Given the description of an element on the screen output the (x, y) to click on. 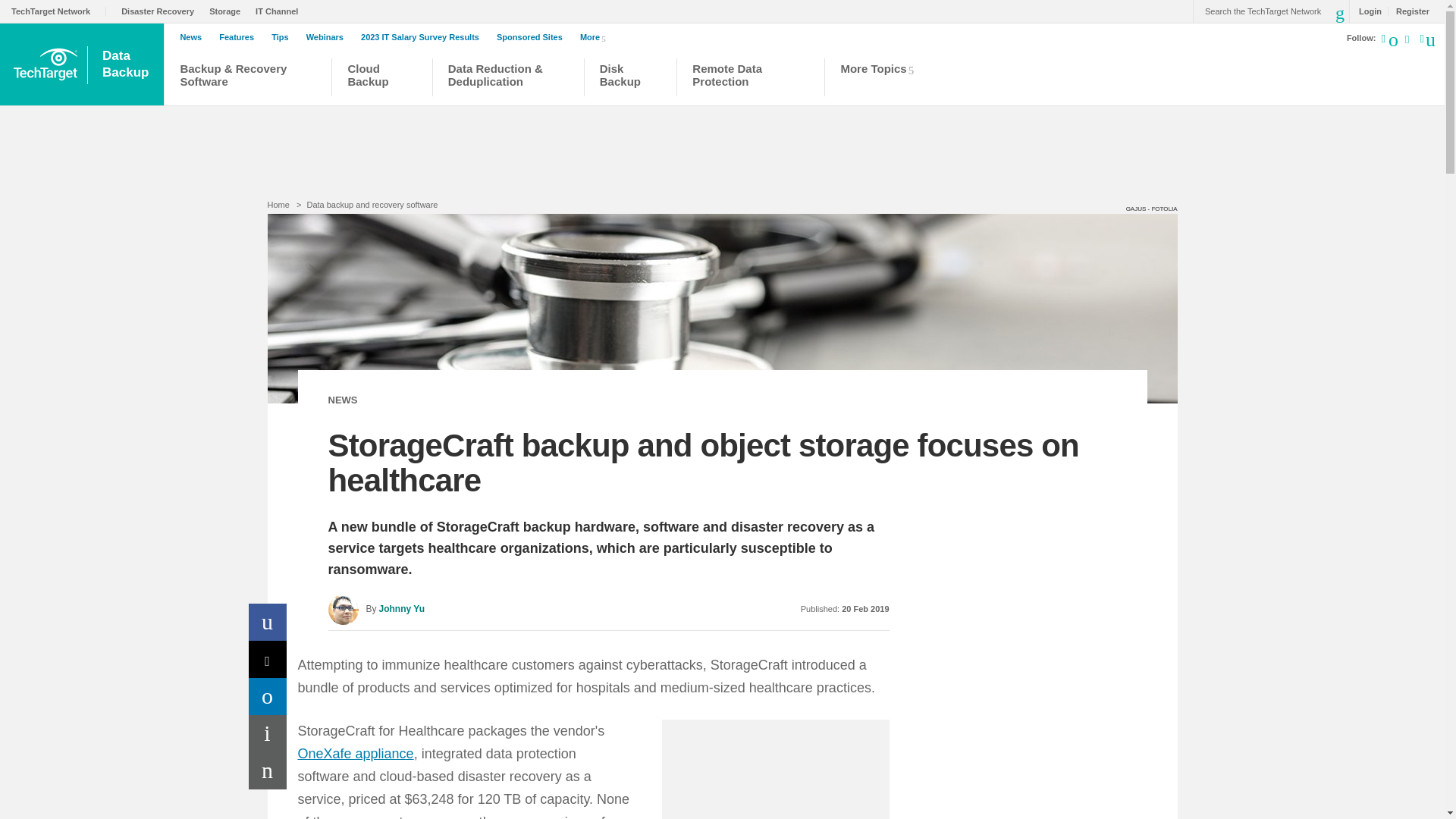
Share on X (267, 659)
News (194, 36)
TechTarget Network (58, 10)
Features (126, 64)
Disaster Recovery (240, 36)
IT Channel (161, 10)
Sponsored Sites (280, 10)
Print This Page (533, 36)
Tips (267, 733)
Disk Backup (282, 36)
More Topics (630, 79)
Share on LinkedIn (881, 79)
Remote Data Protection (267, 696)
Storage (751, 79)
